Given the description of an element on the screen output the (x, y) to click on. 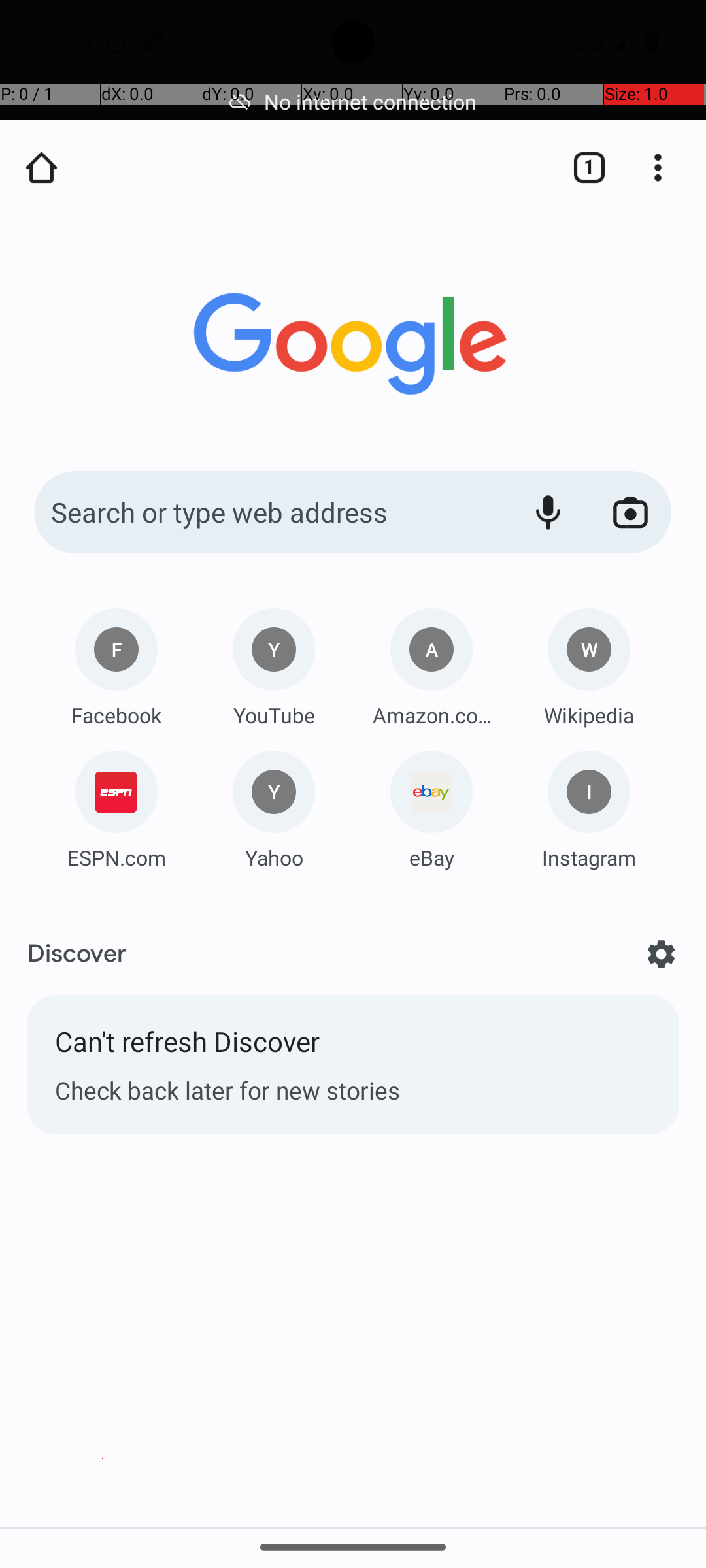
Android System notification: Wi‑Fi will turn on automatically Element type: android.widget.ImageView (153, 41)
